Given the description of an element on the screen output the (x, y) to click on. 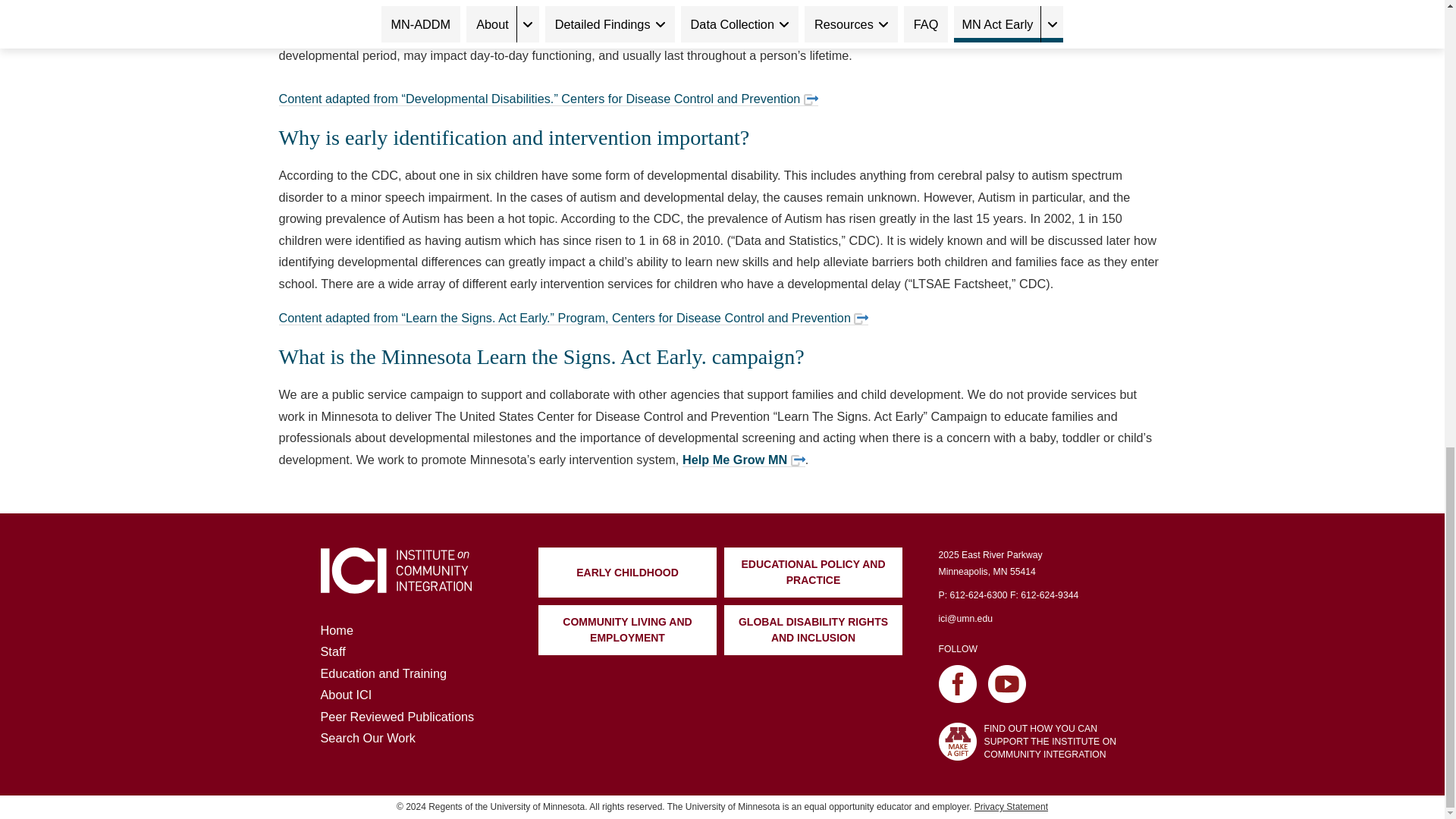
Opens an external site or resource (810, 99)
Help Me Grow MN (743, 459)
Home (336, 630)
Institute on Community Integration (395, 586)
Opens an external site or resource (860, 318)
Institute on Community Integration (395, 570)
Opens an external site or resource (797, 460)
Education and Training (383, 673)
Search Our Work (367, 737)
EARLY CHILDHOOD (627, 572)
COMMUNITY LIVING AND EMPLOYMENT (627, 630)
Peer Reviewed Publications (397, 716)
About ICI (345, 694)
EDUCATIONAL POLICY AND PRACTICE (812, 572)
Staff (332, 651)
